Given the description of an element on the screen output the (x, y) to click on. 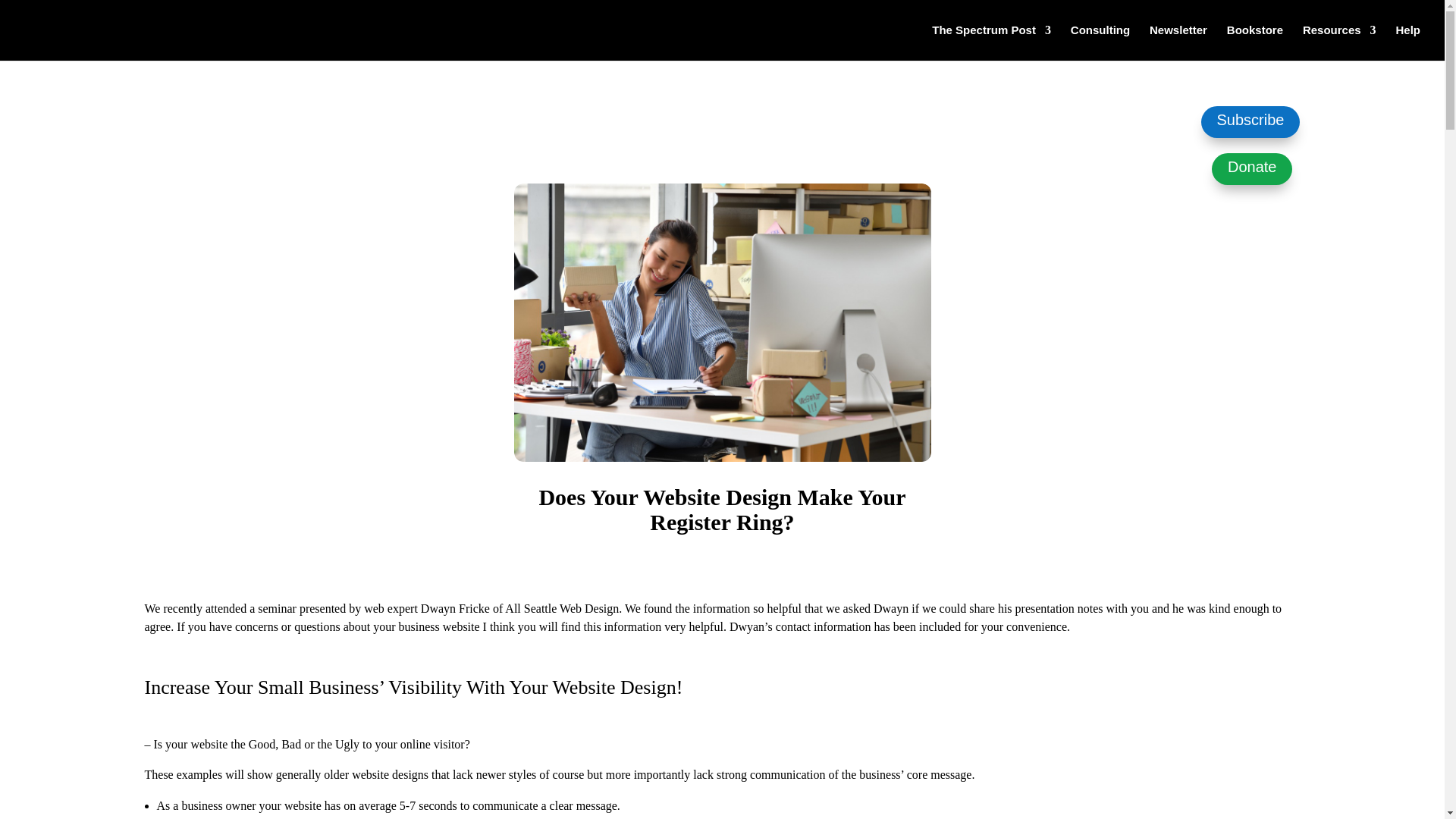
Bookstore (1254, 42)
Subscribe (1250, 122)
The Spectrum Post (991, 42)
Help (1407, 42)
Consulting (1099, 42)
Donate (1251, 169)
Resources (1339, 42)
Newsletter (1178, 42)
